Given the description of an element on the screen output the (x, y) to click on. 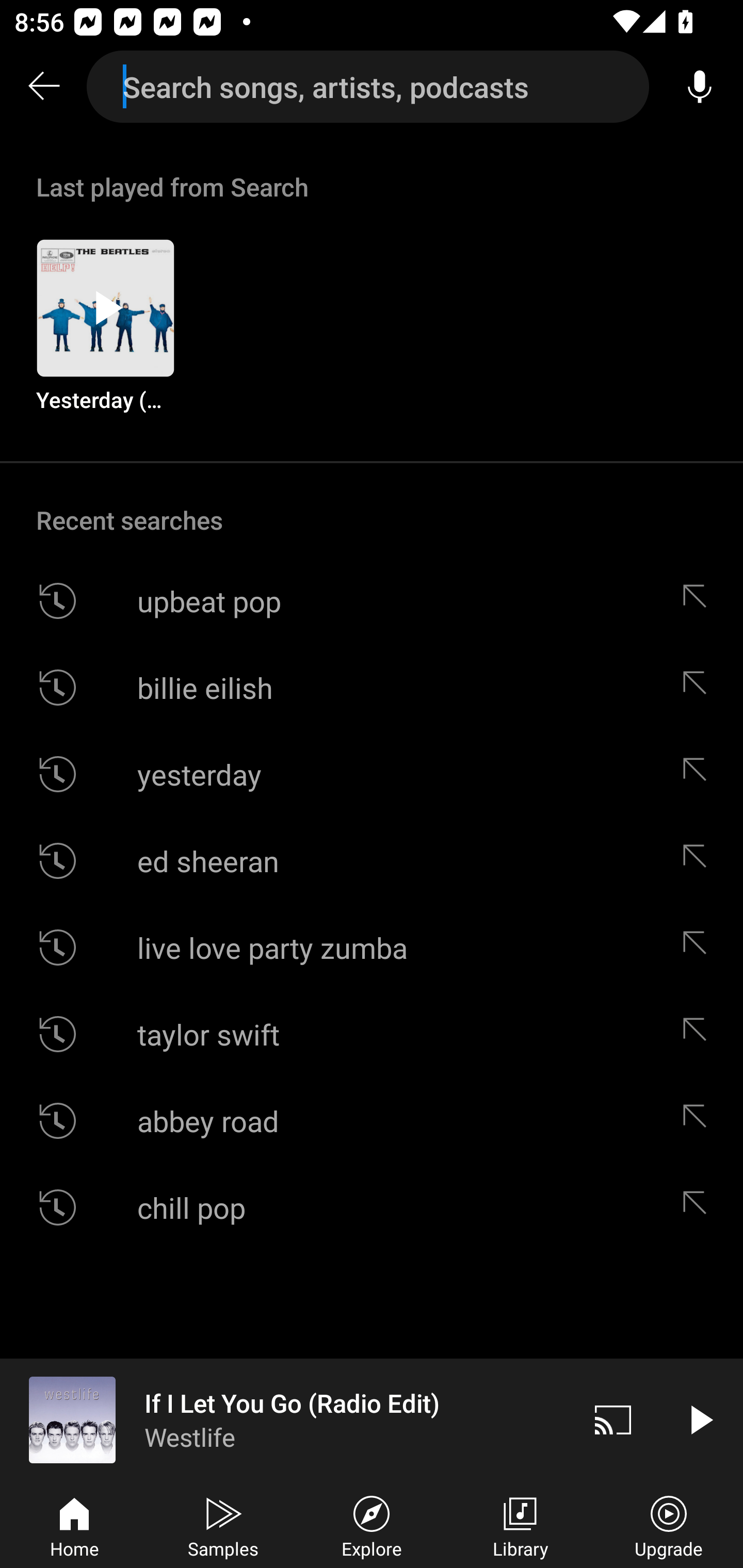
Search back (43, 86)
Search songs, artists, podcasts (367, 86)
Voice search (699, 86)
upbeat pop Edit suggestion upbeat pop (371, 601)
Edit suggestion upbeat pop (699, 601)
billie eilish Edit suggestion billie eilish (371, 687)
Edit suggestion billie eilish (699, 687)
yesterday Edit suggestion yesterday (371, 773)
Edit suggestion yesterday (699, 773)
ed sheeran Edit suggestion ed sheeran (371, 860)
Edit suggestion ed sheeran (699, 860)
Edit suggestion live love party zumba (699, 947)
taylor swift Edit suggestion taylor swift (371, 1033)
Edit suggestion taylor swift (699, 1033)
abbey road Edit suggestion abbey road (371, 1120)
Edit suggestion abbey road (699, 1120)
chill pop Edit suggestion chill pop (371, 1207)
Edit suggestion chill pop (699, 1207)
If I Let You Go (Radio Edit) Westlife (284, 1419)
Cast. Disconnected (612, 1419)
Play video (699, 1419)
Home (74, 1524)
Samples (222, 1524)
Explore (371, 1524)
Library (519, 1524)
Upgrade (668, 1524)
